Given the description of an element on the screen output the (x, y) to click on. 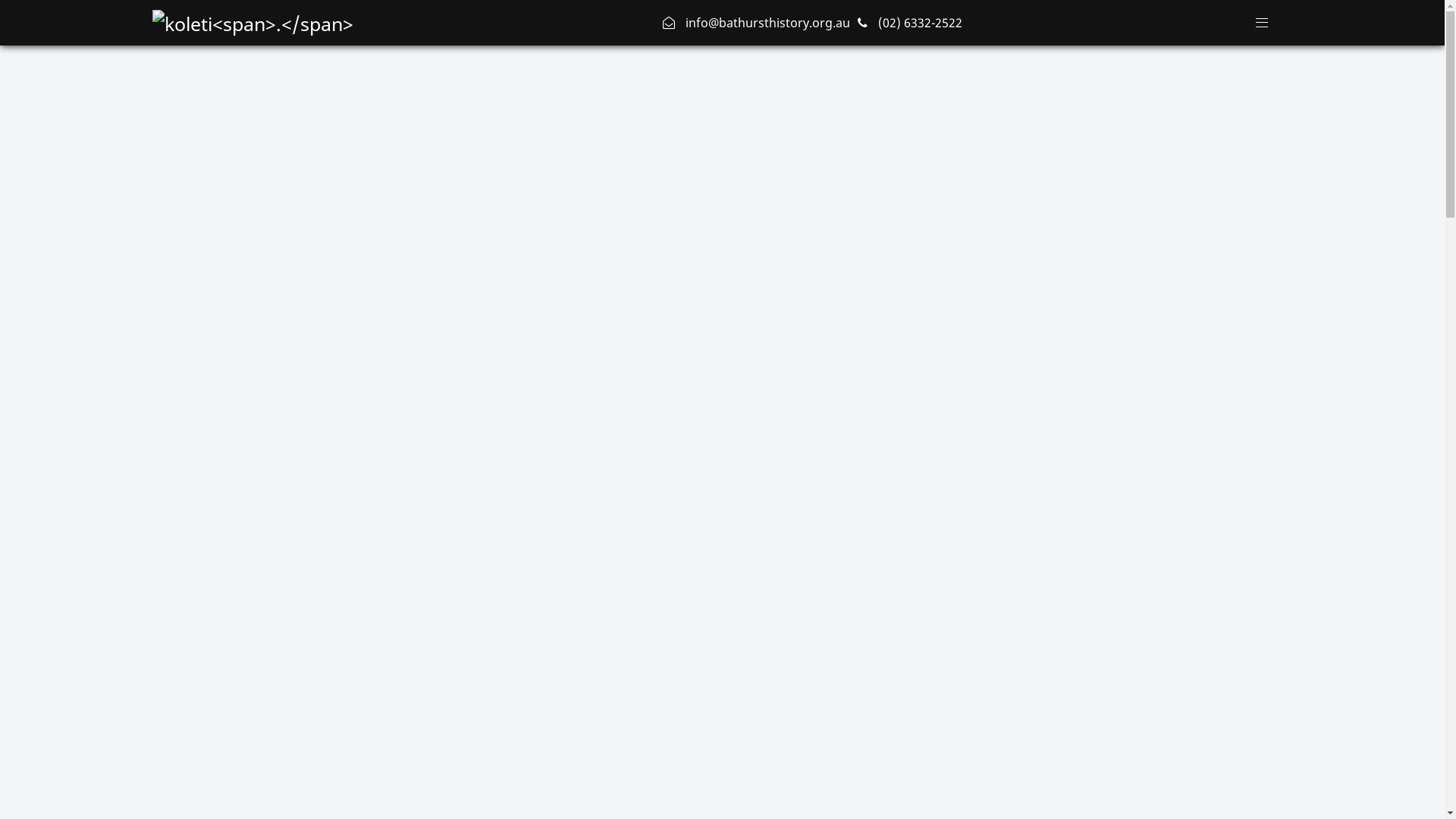
Bathurst District Historial Society Element type: hover (251, 21)
